Given the description of an element on the screen output the (x, y) to click on. 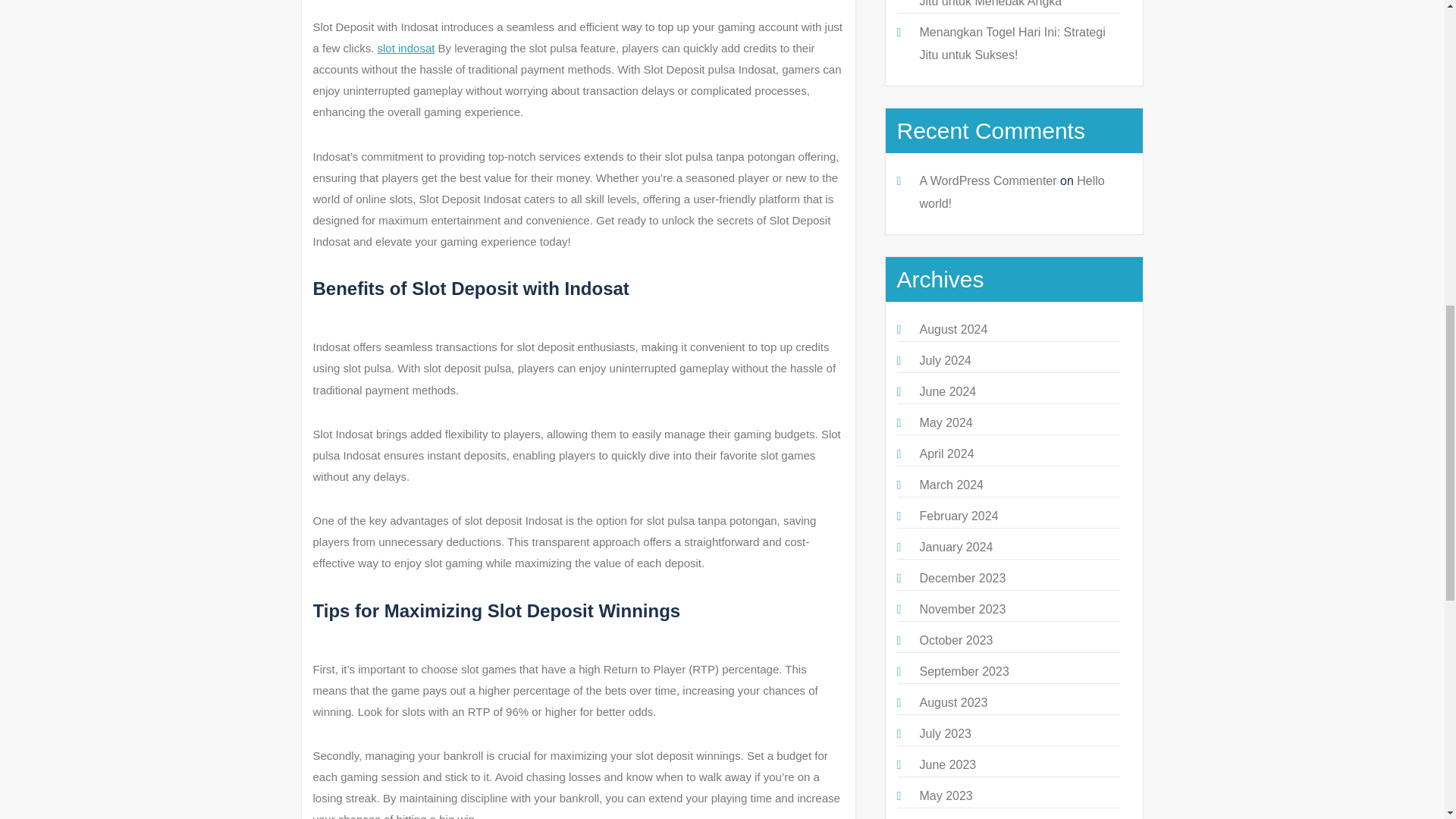
slot indosat (406, 47)
July 2023 (944, 733)
April 2024 (946, 453)
Rahasia Menang Togel: Tips dan Trik Jitu untuk Menebak Angka (1018, 3)
June 2024 (946, 391)
January 2024 (955, 546)
August 2024 (952, 328)
May 2023 (945, 795)
Menangkan Togel Hari Ini: Strategi Jitu untuk Sukses! (1011, 43)
A WordPress Commenter (987, 180)
